Given the description of an element on the screen output the (x, y) to click on. 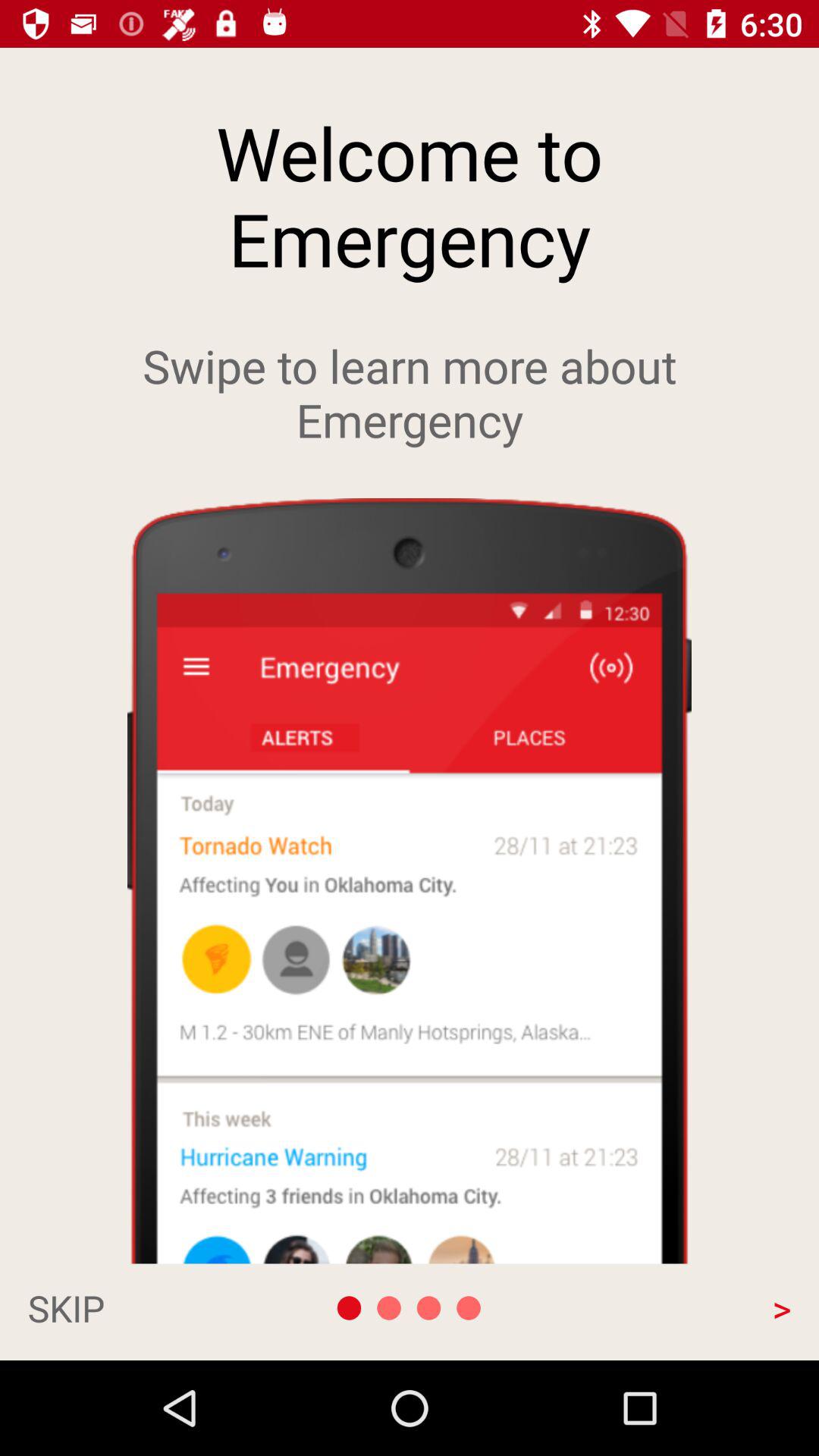
flip until the > icon (677, 1307)
